Given the description of an element on the screen output the (x, y) to click on. 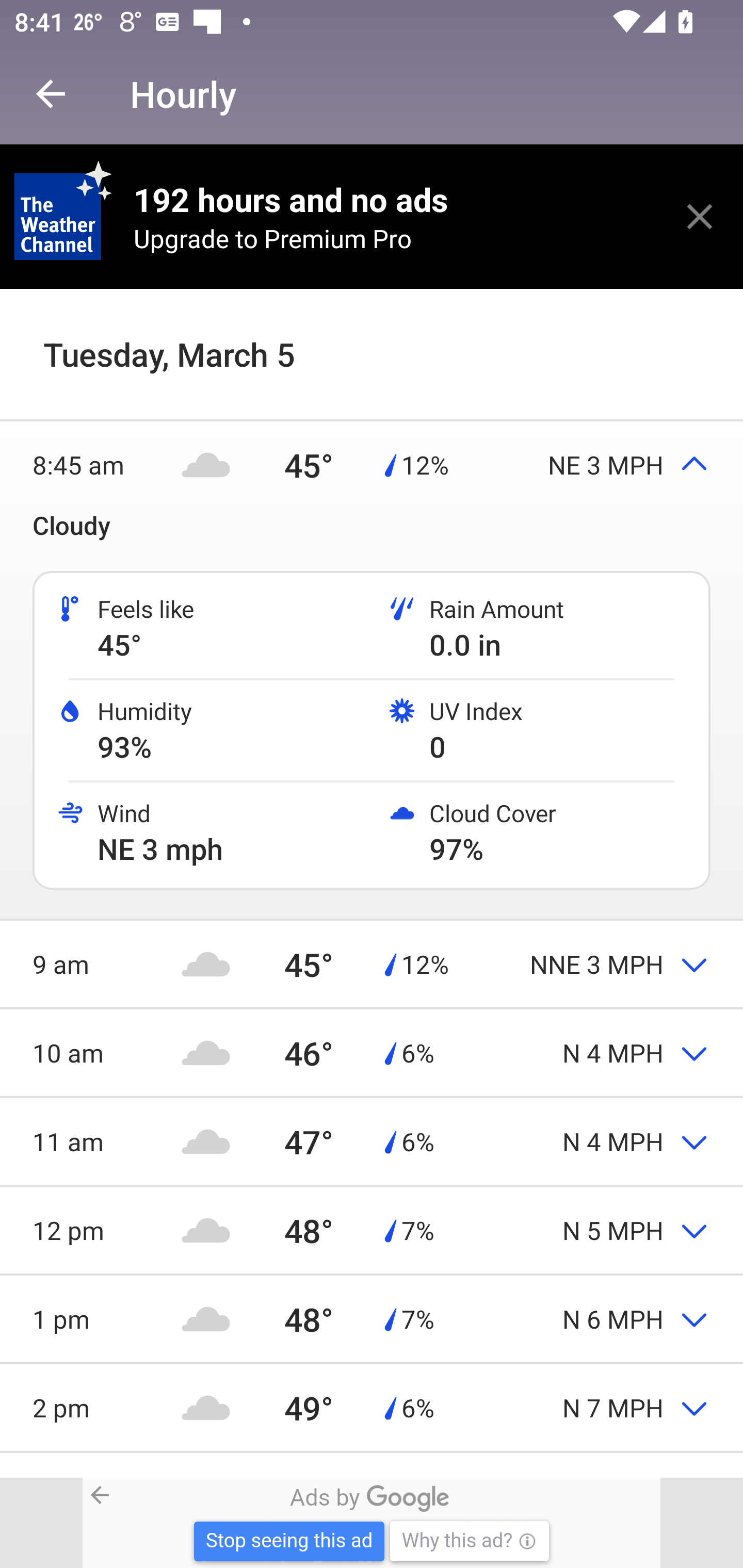
Navigate up (50, 93)
close this (699, 216)
8:45 am 45° 12% NE 3 MPH (371, 464)
9 am 45° 12% NNE 3 MPH (371, 963)
10 am 46° 6% N 4 MPH (371, 1052)
11 am 47° 6% N 4 MPH (371, 1141)
12 pm 48° 7% N 5 MPH (371, 1229)
1 pm 48° 7% N 6 MPH (371, 1318)
2 pm 49° 6% N 7 MPH (371, 1407)
